Given the description of an element on the screen output the (x, y) to click on. 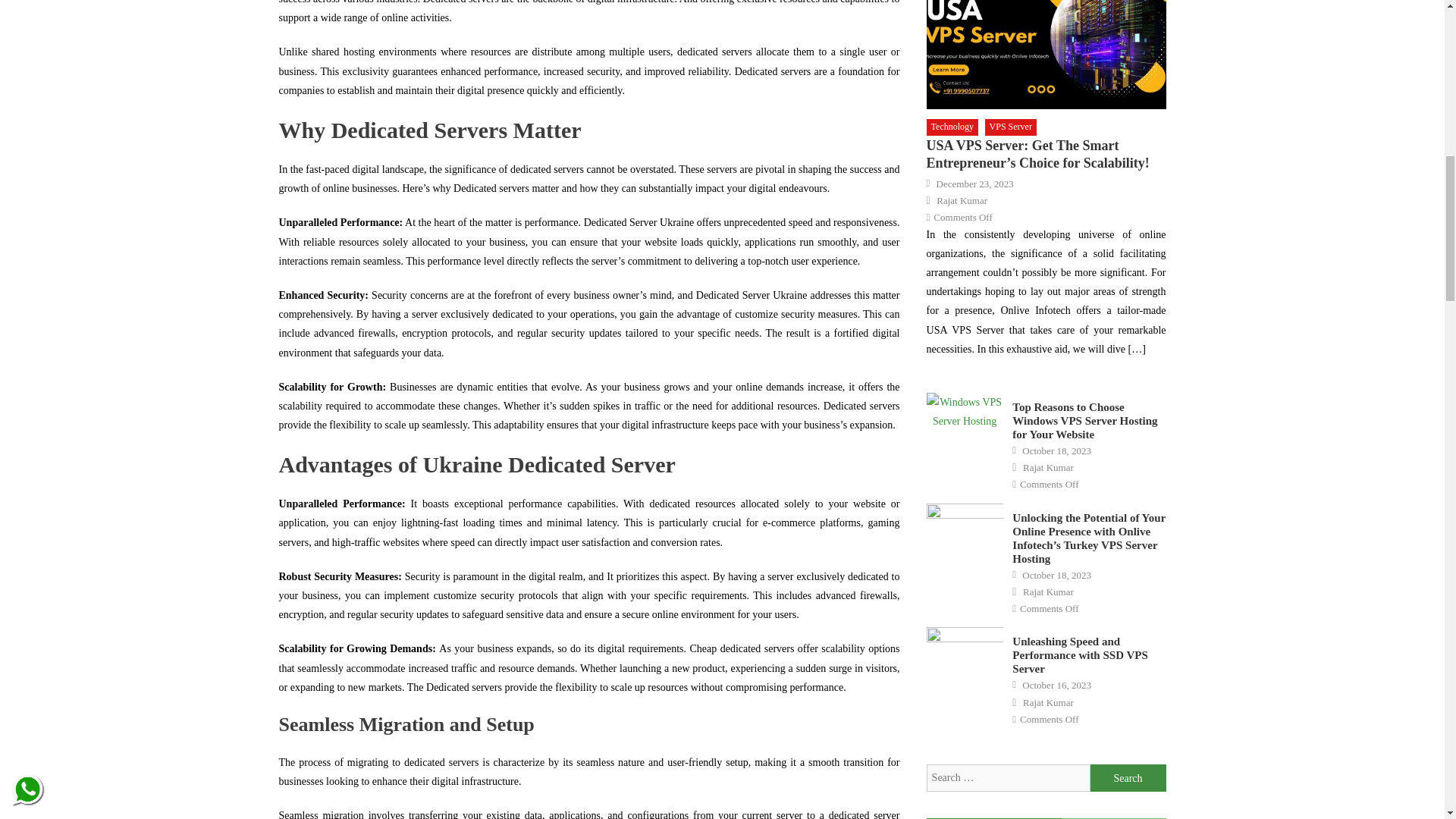
Search (1128, 777)
Search (1128, 777)
Unleashing Speed and Performance with SSD VPS Server (964, 654)
